Given the description of an element on the screen output the (x, y) to click on. 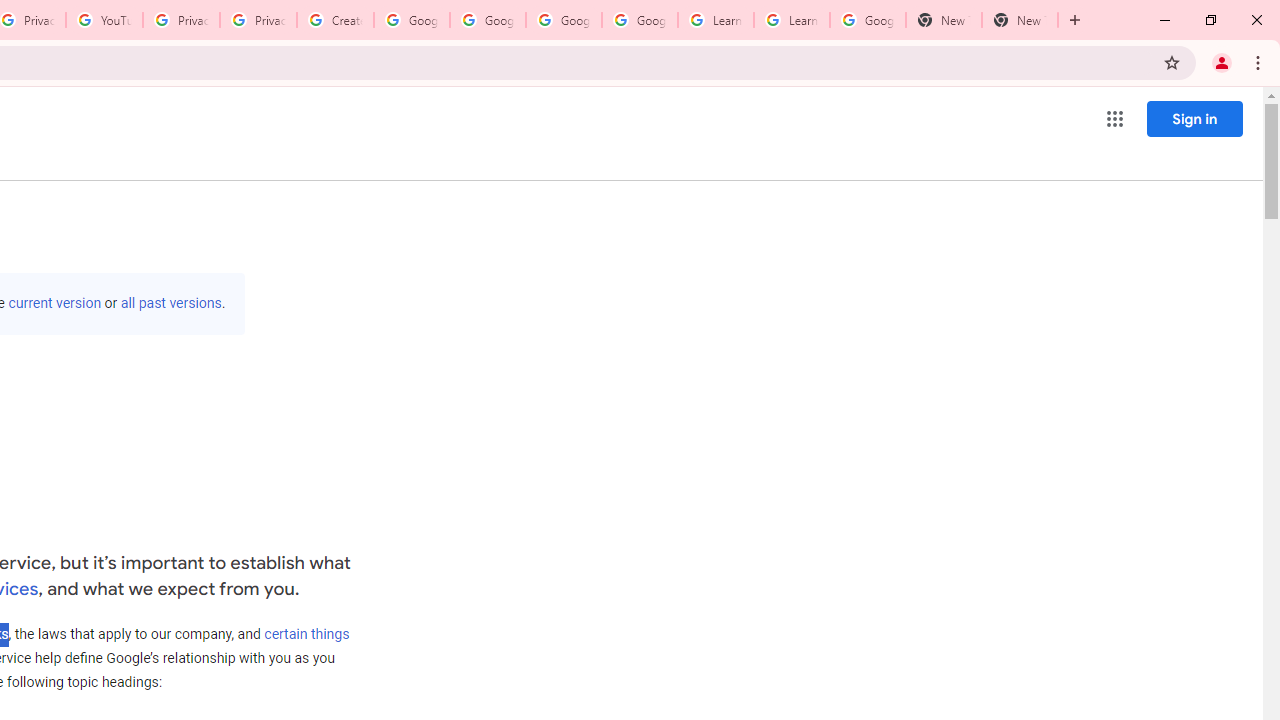
Google Account Help (563, 20)
all past versions (170, 303)
Create your Google Account (335, 20)
current version (54, 303)
Google Account (867, 20)
Google Account Help (488, 20)
New Tab (1019, 20)
